Given the description of an element on the screen output the (x, y) to click on. 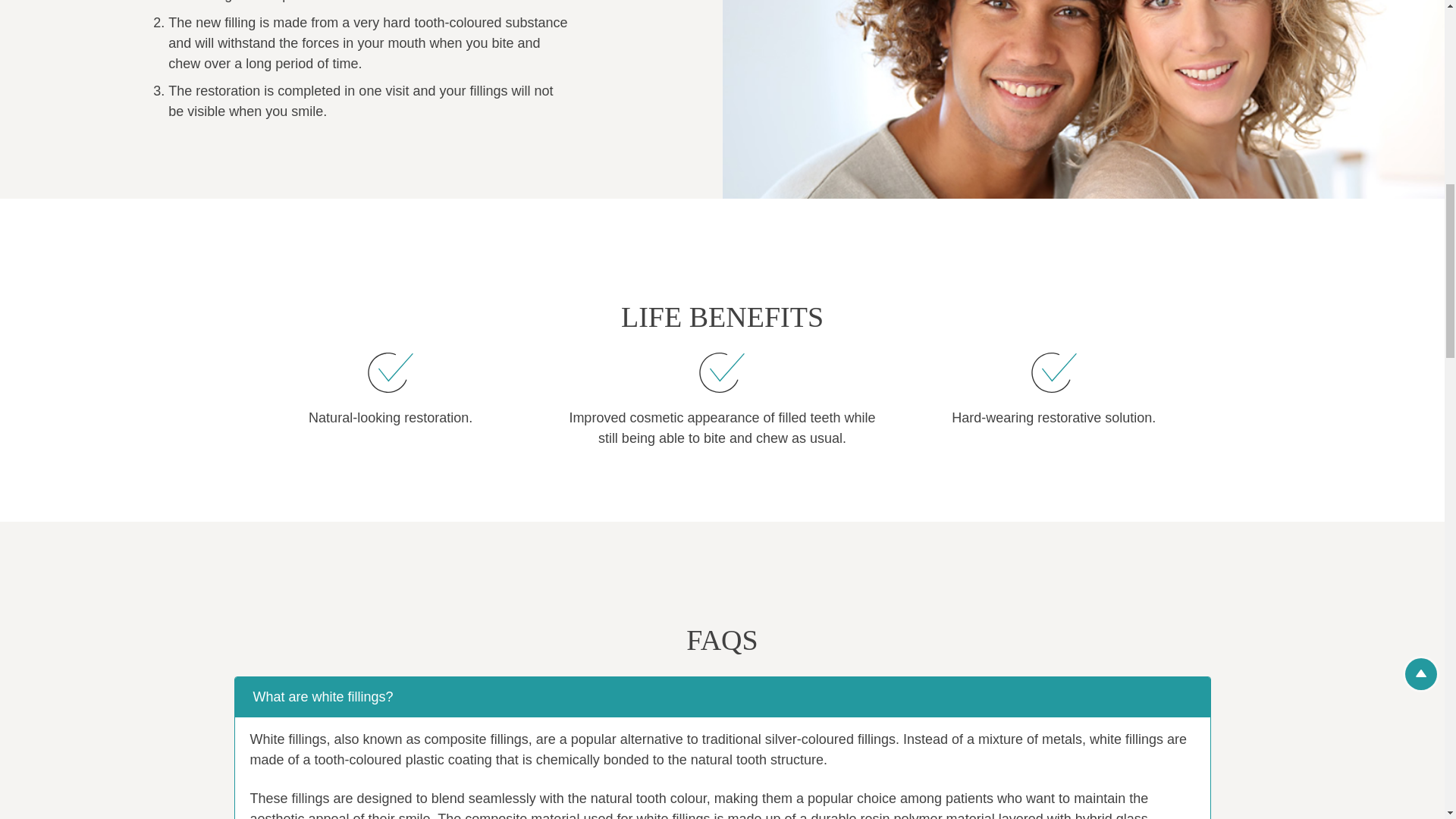
What are white fillings? (721, 697)
